Given the description of an element on the screen output the (x, y) to click on. 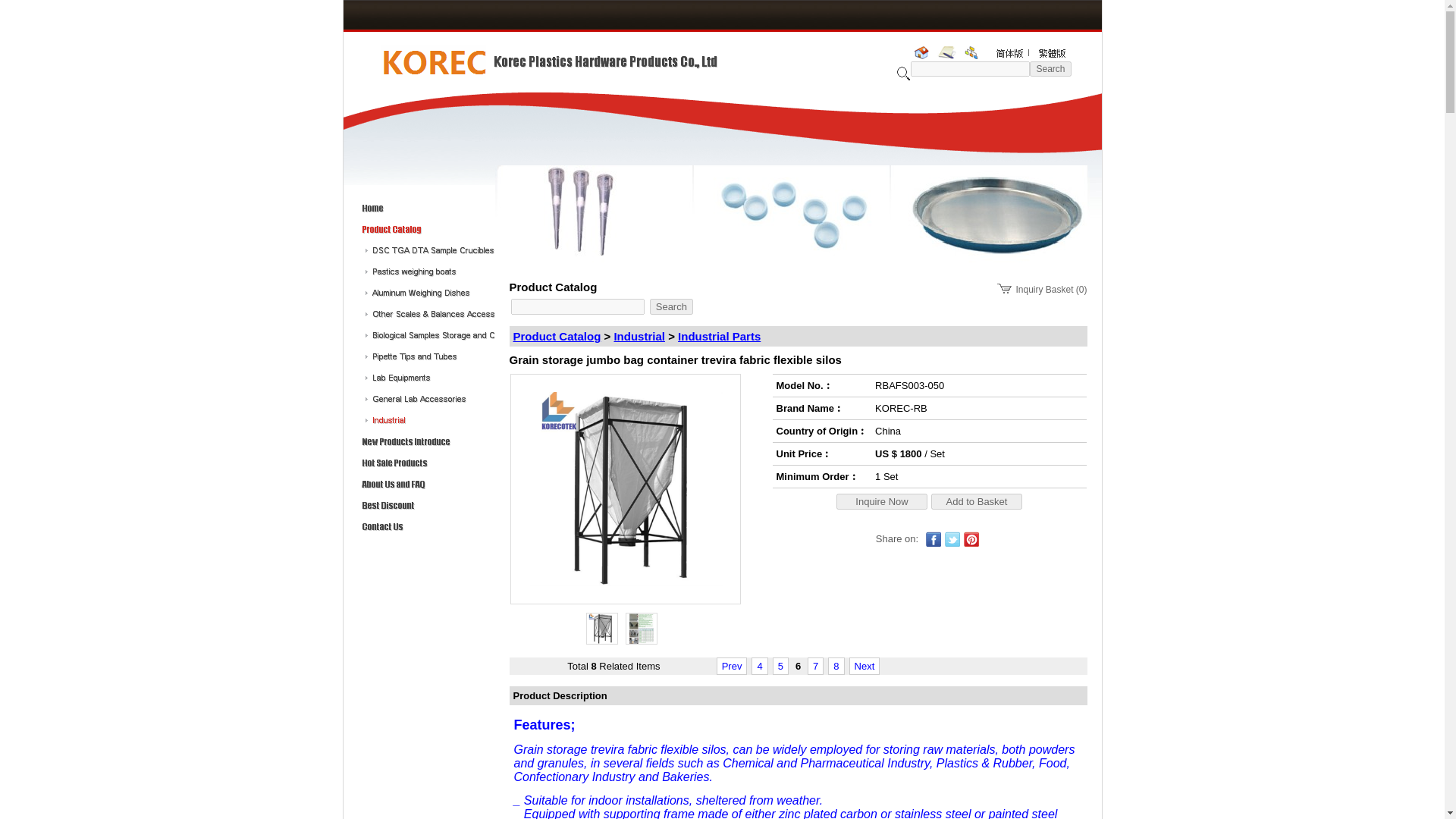
Product Catalog (555, 336)
Industrial (638, 336)
Add to Basket (976, 500)
Facebook (933, 539)
4 (759, 665)
Inquire Now (881, 500)
Search (671, 306)
Industrial Parts (719, 336)
Search (671, 306)
Prev (732, 665)
Twitter (951, 539)
7 (815, 665)
5 (780, 665)
